Given the description of an element on the screen output the (x, y) to click on. 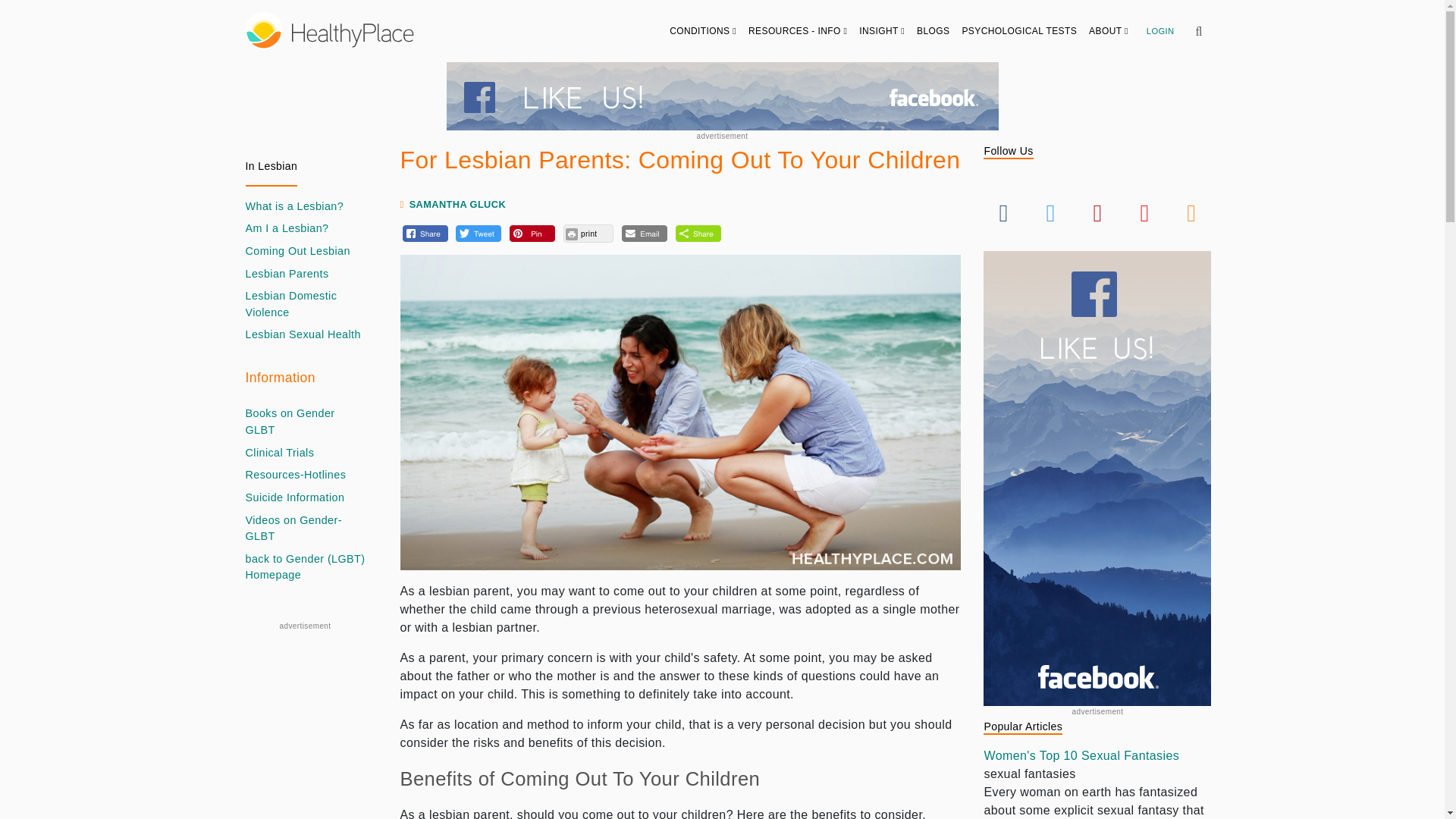
INSIGHT (882, 31)
Join our Facebook community for mental health support (721, 96)
RESOURCES - INFO (797, 31)
CONDITIONS (702, 31)
